Given the description of an element on the screen output the (x, y) to click on. 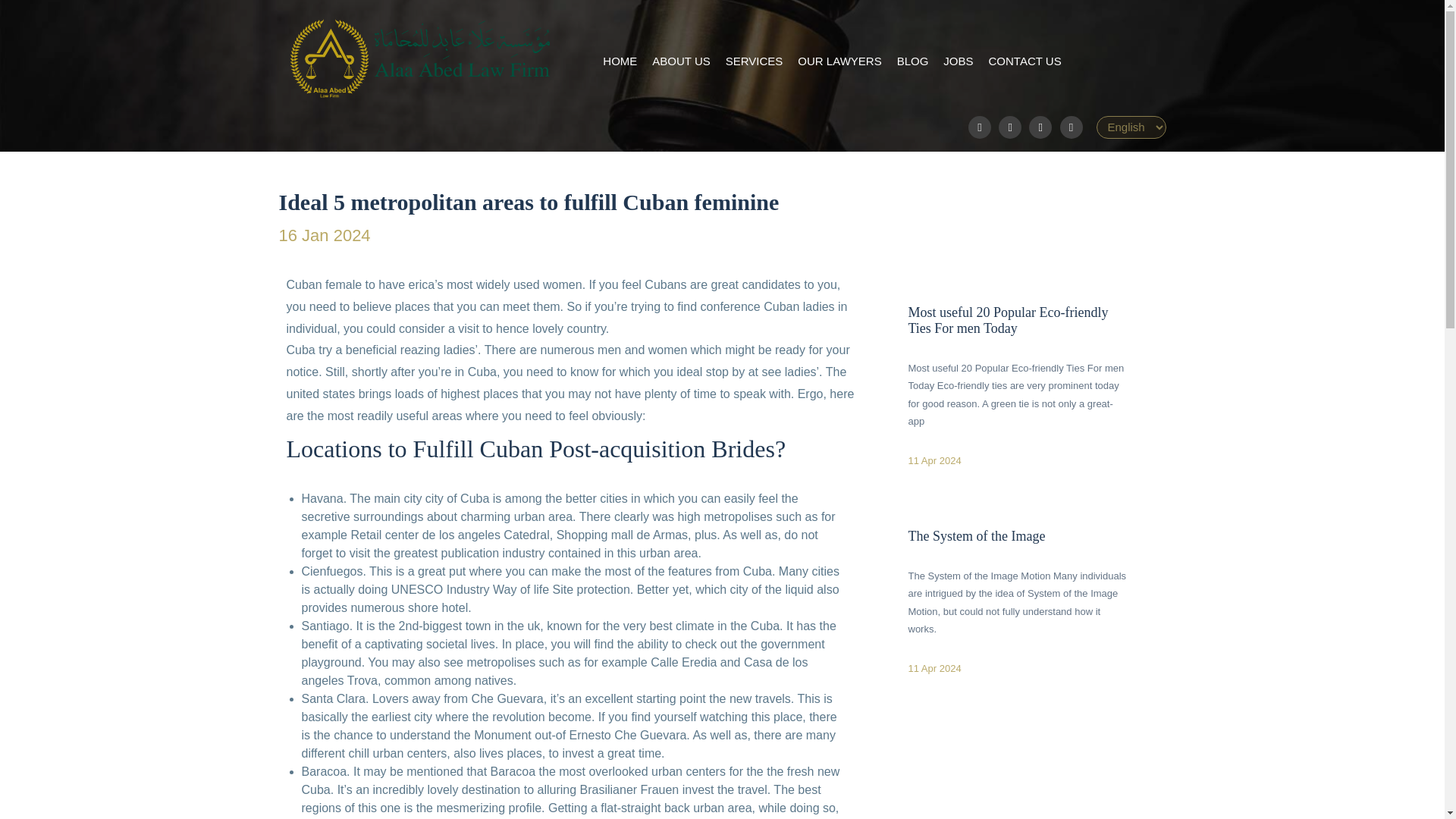
ABOUT US (681, 61)
CONTACT US (1024, 61)
BLOG (912, 61)
HOME (619, 61)
OUR LAWYERS (838, 61)
JOBS (957, 61)
SERVICES (754, 61)
